Given the description of an element on the screen output the (x, y) to click on. 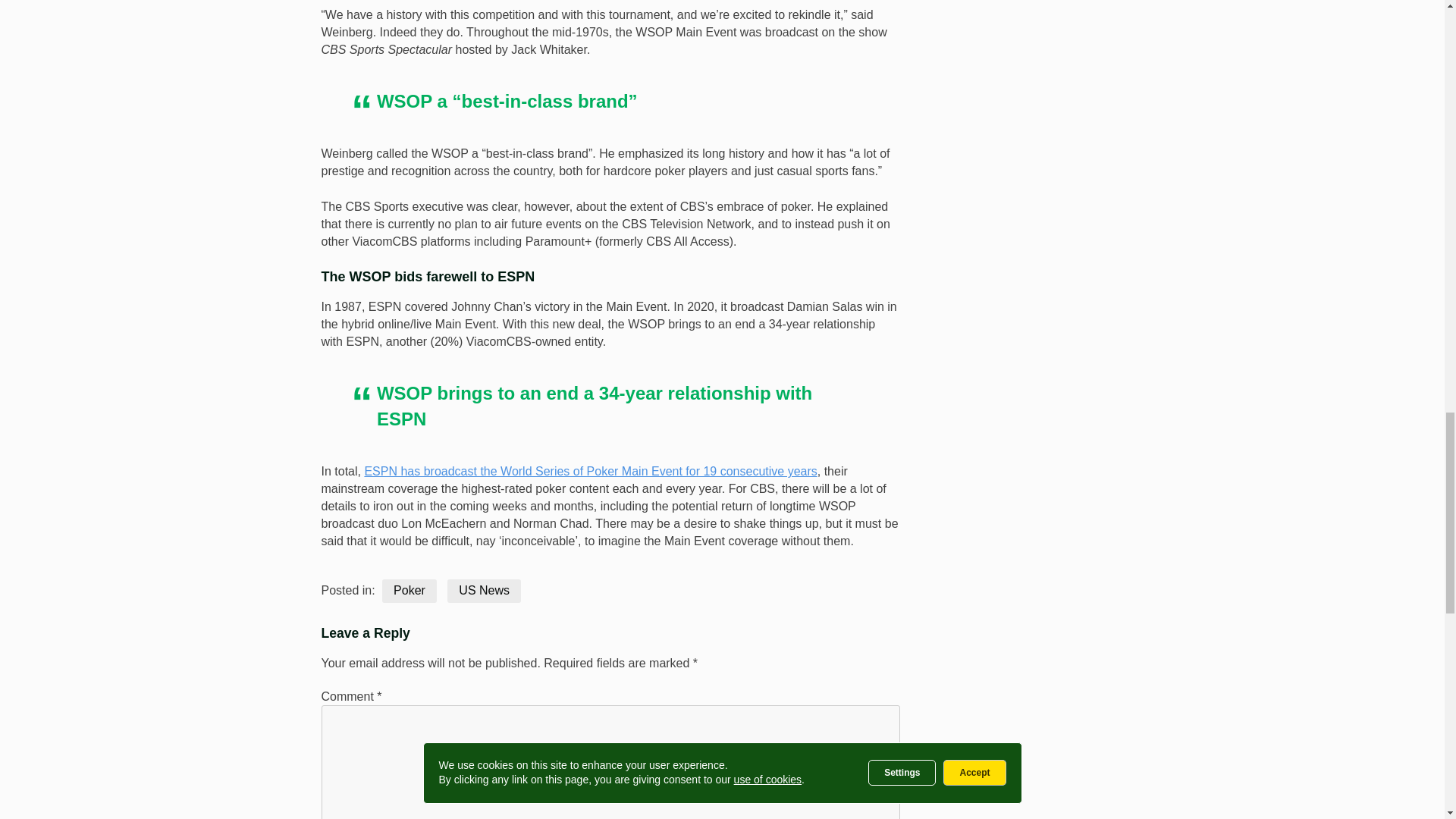
US News (483, 590)
Poker (408, 590)
